Given the description of an element on the screen output the (x, y) to click on. 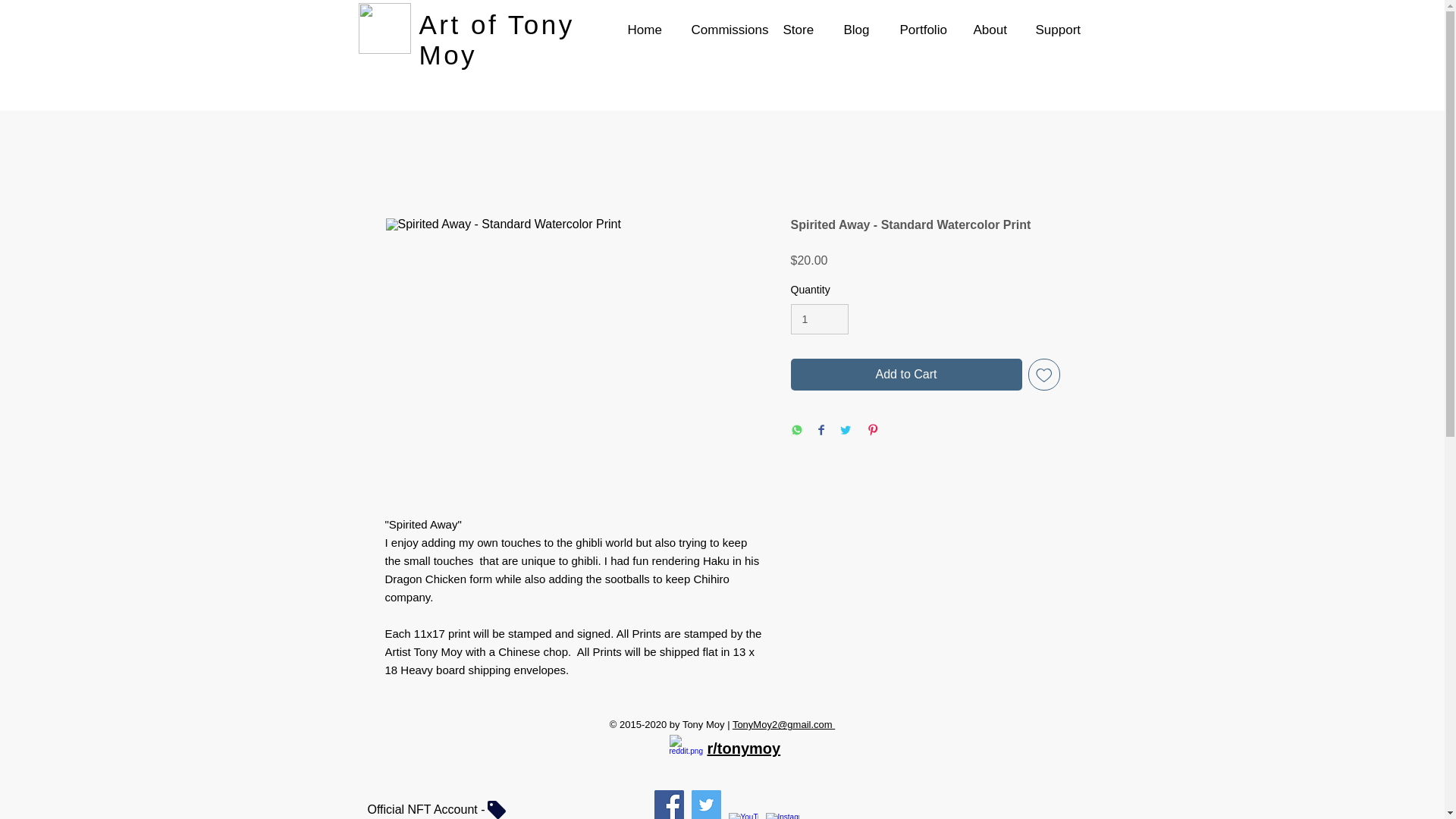
1 (818, 318)
Store (794, 29)
About (984, 29)
Commissions (716, 29)
Art of Tony Moy (496, 39)
Support (1051, 29)
Blog (852, 29)
Portfolio (917, 29)
Home (639, 29)
Official NFT Account - (437, 809)
